Given the description of an element on the screen output the (x, y) to click on. 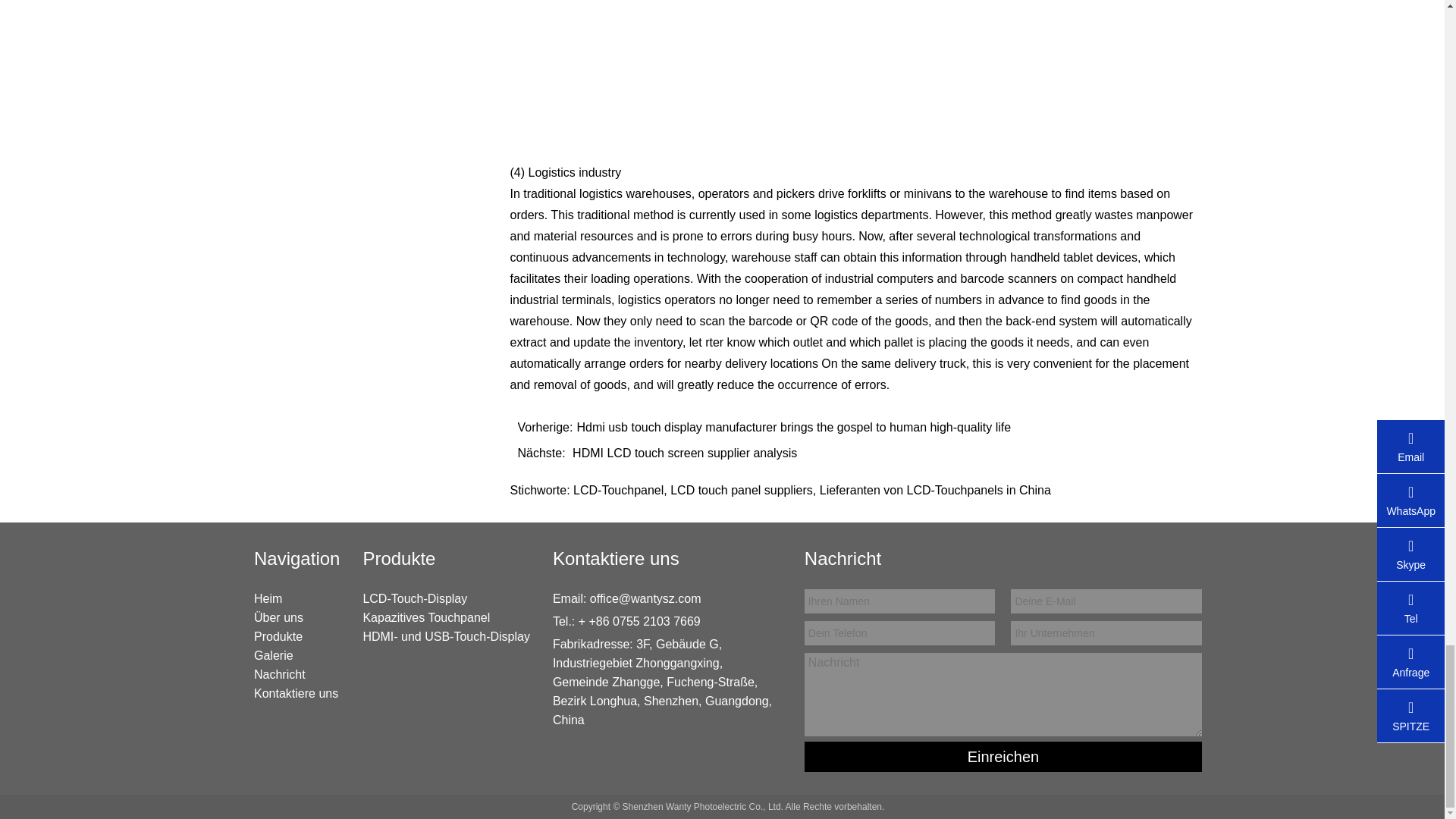
Application of LCD touch panel in industry (856, 70)
Einreichen (1003, 757)
